Given the description of an element on the screen output the (x, y) to click on. 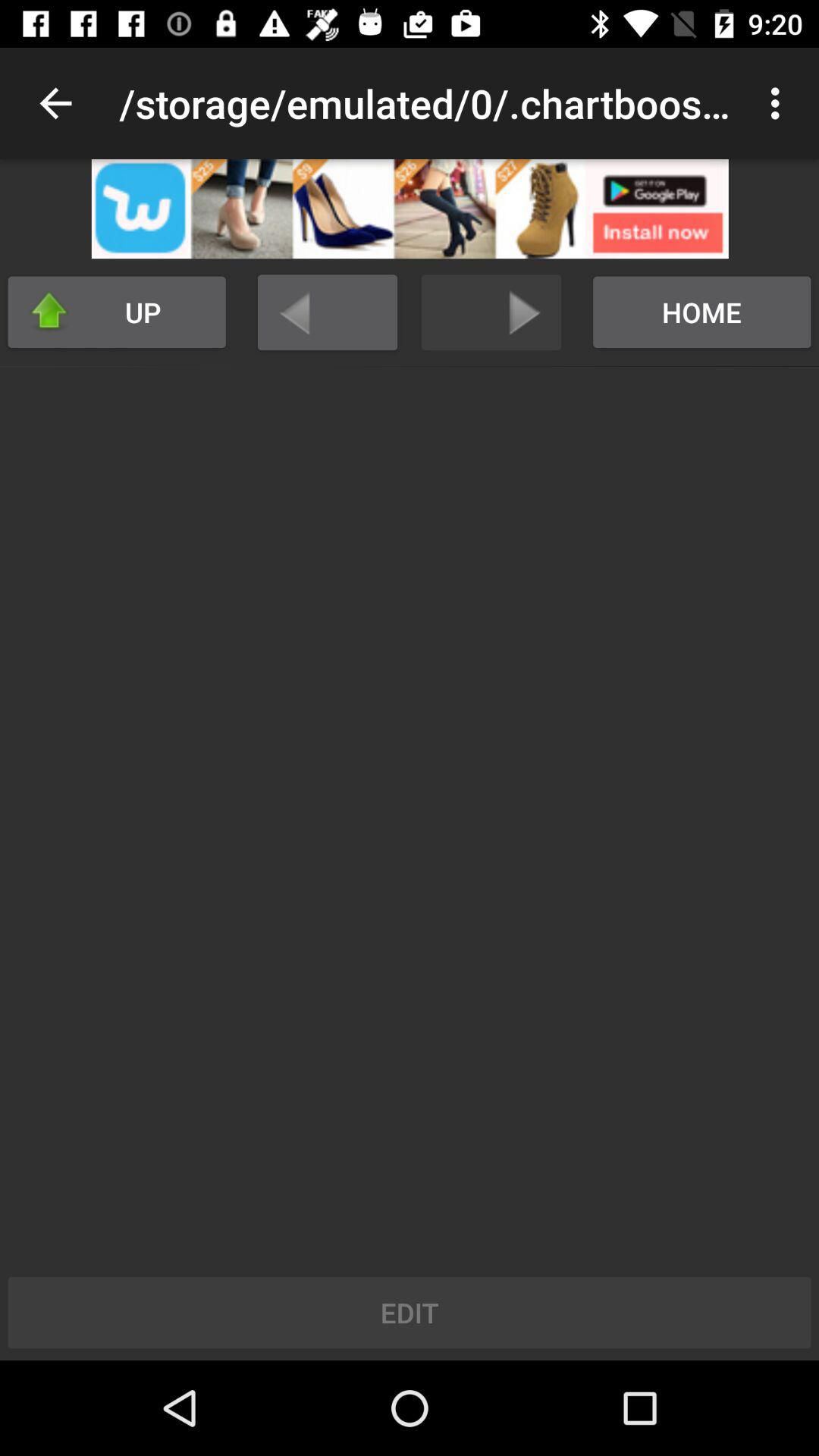
go forward (491, 312)
